Given the description of an element on the screen output the (x, y) to click on. 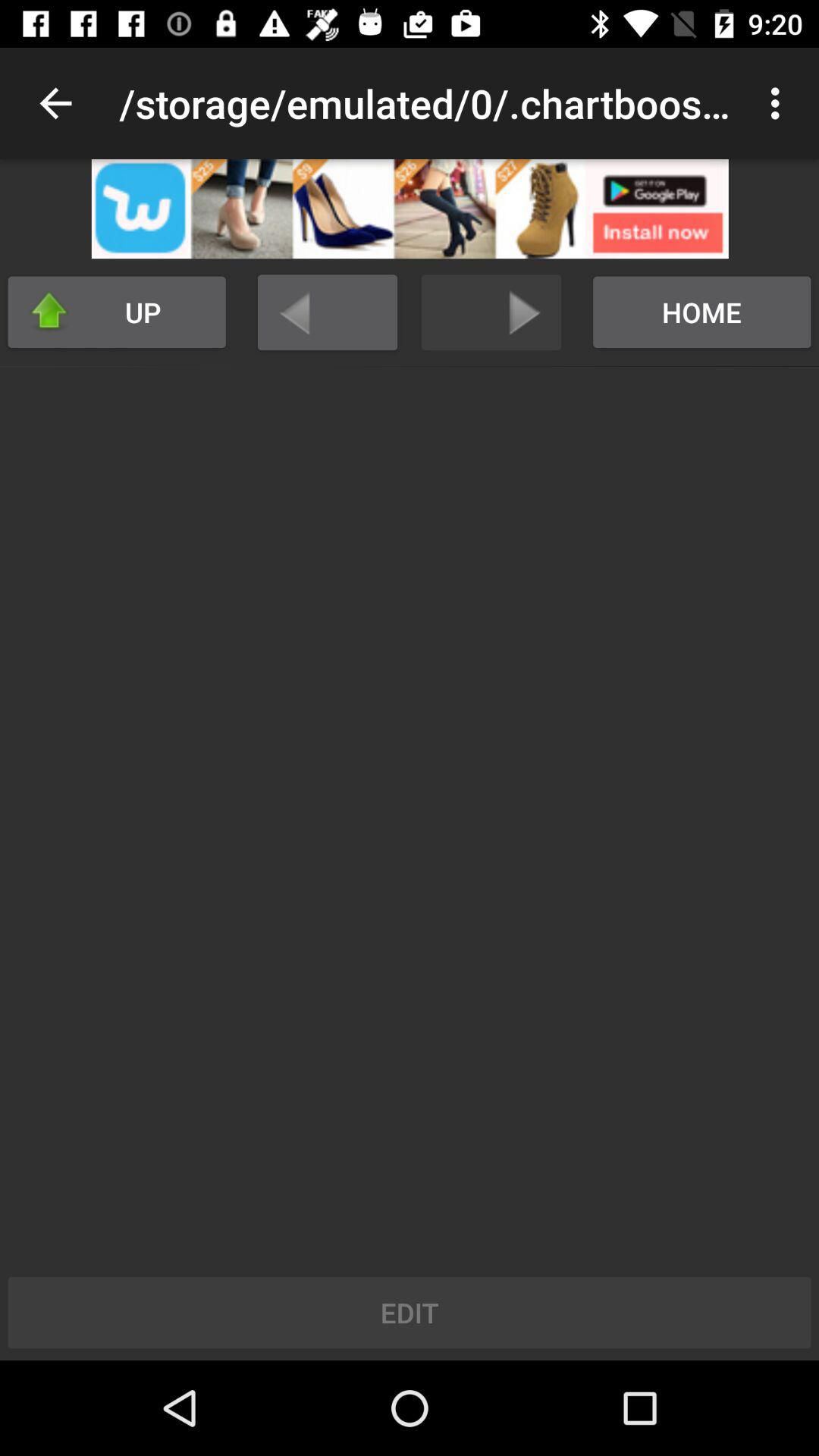
go forward (491, 312)
